Given the description of an element on the screen output the (x, y) to click on. 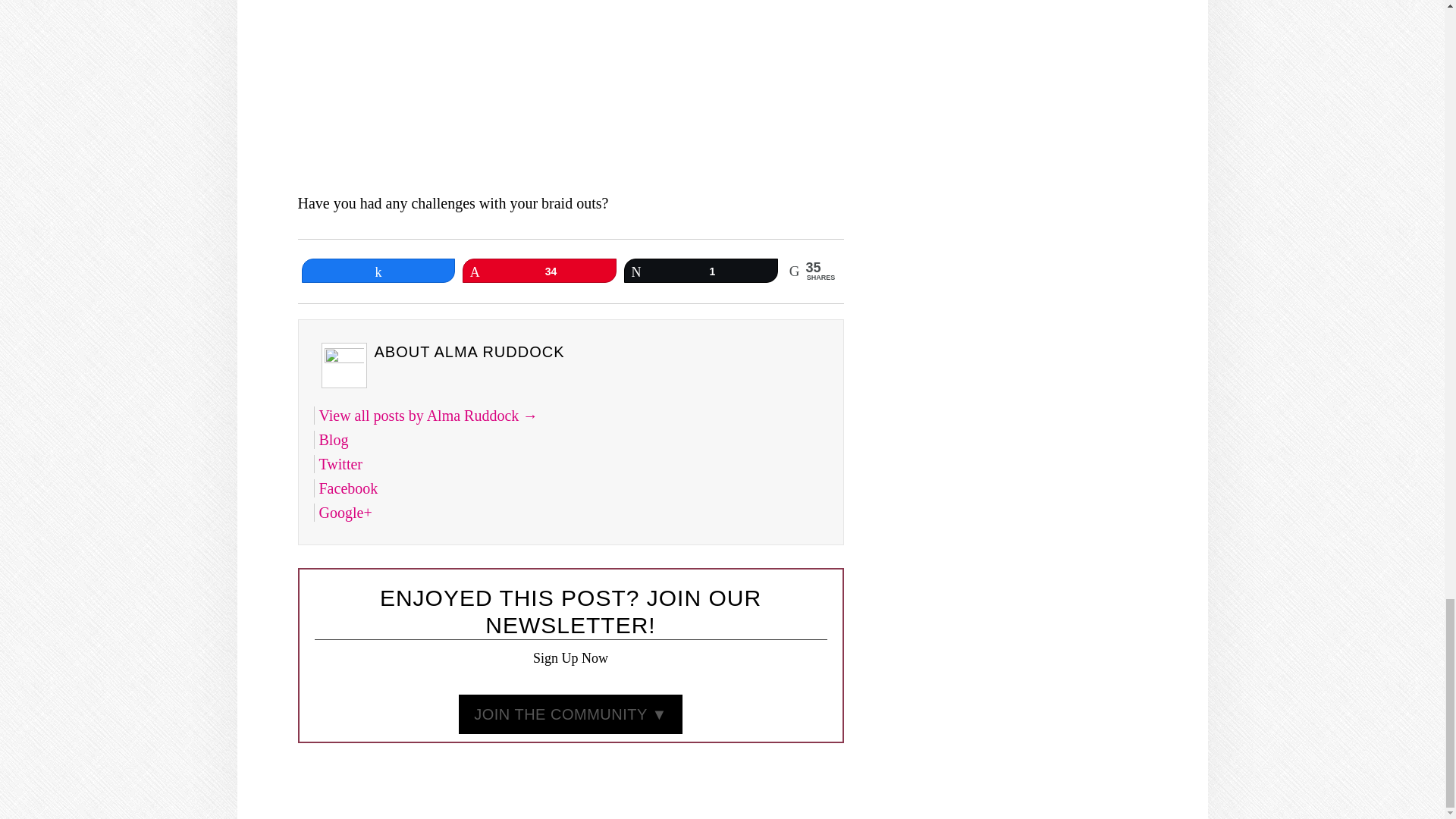
Add Alma Ruddock in your circle (344, 512)
Follow Alma Ruddock on Twitter (339, 463)
